Given the description of an element on the screen output the (x, y) to click on. 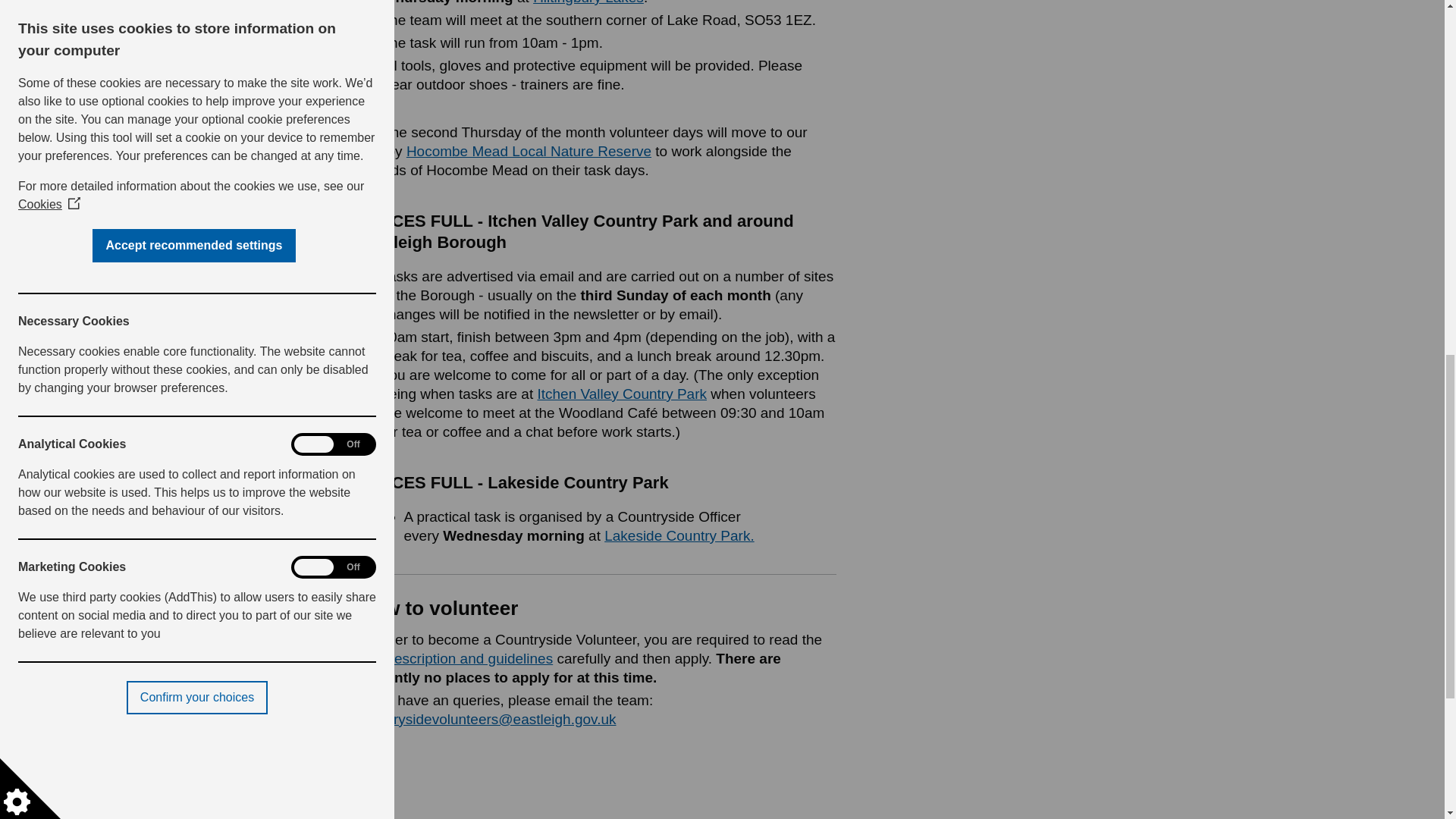
Hiltingbury Lakes (587, 2)
role description and guidelines (455, 658)
Hocombe Mead Local Nature Reserve (528, 150)
Hocombe Mead (528, 150)
Itchen Valley Country Park (621, 393)
Lakeside Country Park. (679, 535)
Itchen Valley Country Park (621, 393)
Countryside Volunteer Role And Guidelines Dec21 (455, 658)
Lakeside Country Park (679, 535)
Hiltingbury Lakes (587, 2)
